Given the description of an element on the screen output the (x, y) to click on. 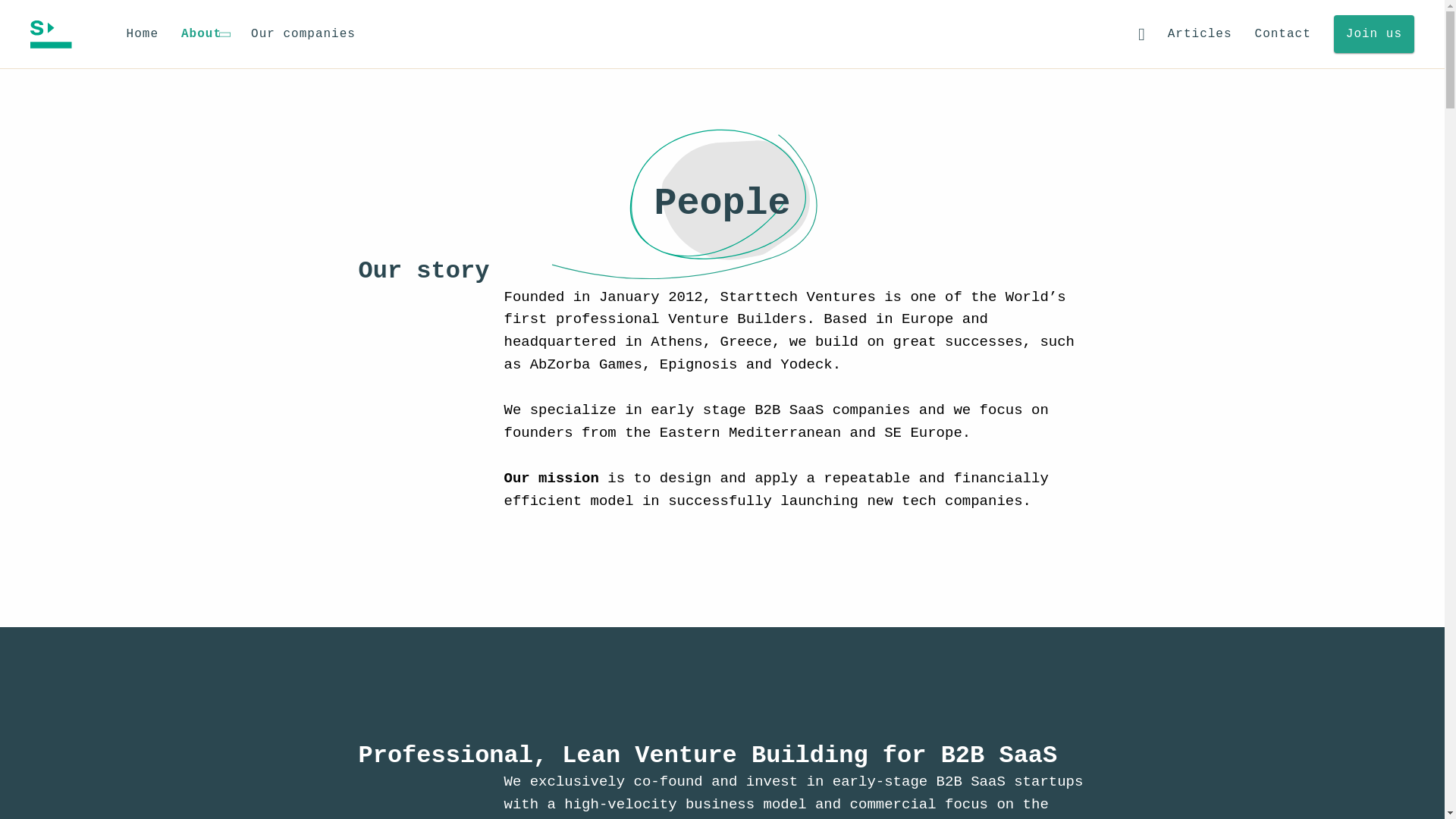
Our companies (302, 34)
Contact (1283, 34)
Starttech Ventures (50, 33)
Home (142, 34)
About (204, 34)
Articles (1199, 34)
Join us (1373, 34)
